Given the description of an element on the screen output the (x, y) to click on. 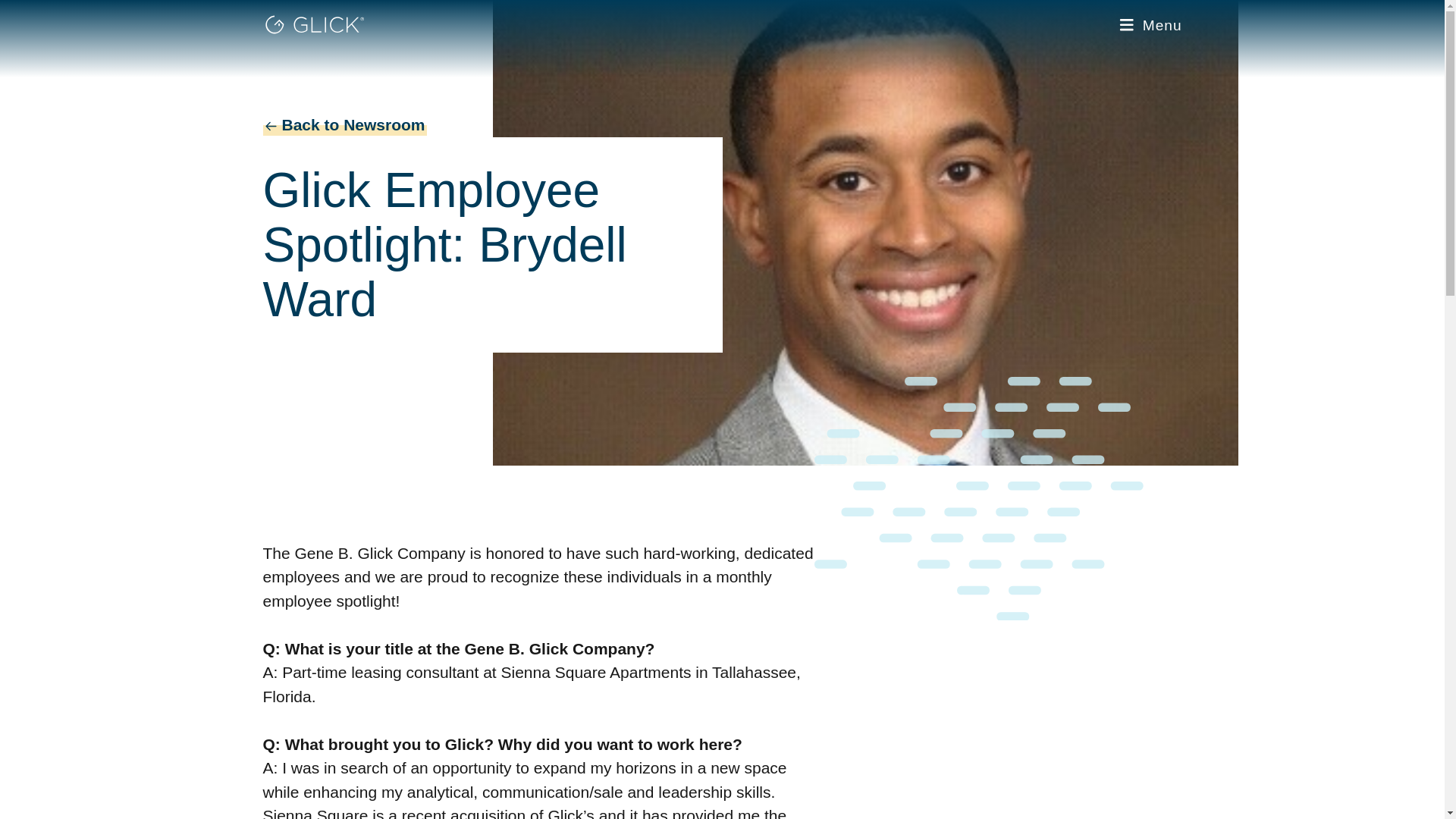
Menu (1149, 25)
Back to Newsroom (492, 125)
